Given the description of an element on the screen output the (x, y) to click on. 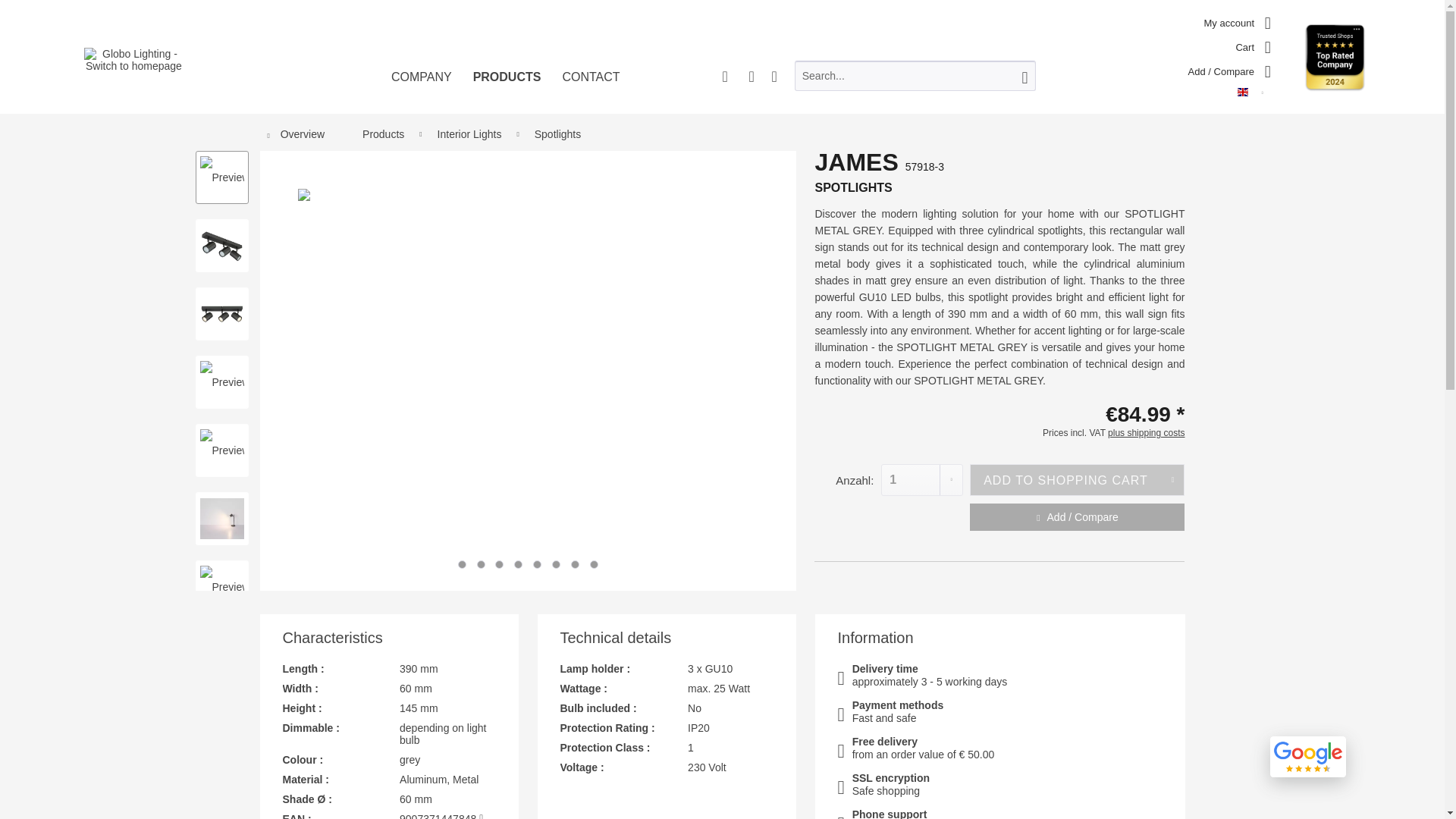
Wish list (1229, 68)
COMPANY (421, 88)
Products (507, 88)
PRODUCTS (507, 88)
My account (1237, 19)
CONTACT (590, 88)
Company (421, 88)
My account (1237, 19)
Globo Lighting - Switch to homepage (133, 59)
Shopping cart (1252, 43)
